Given the description of an element on the screen output the (x, y) to click on. 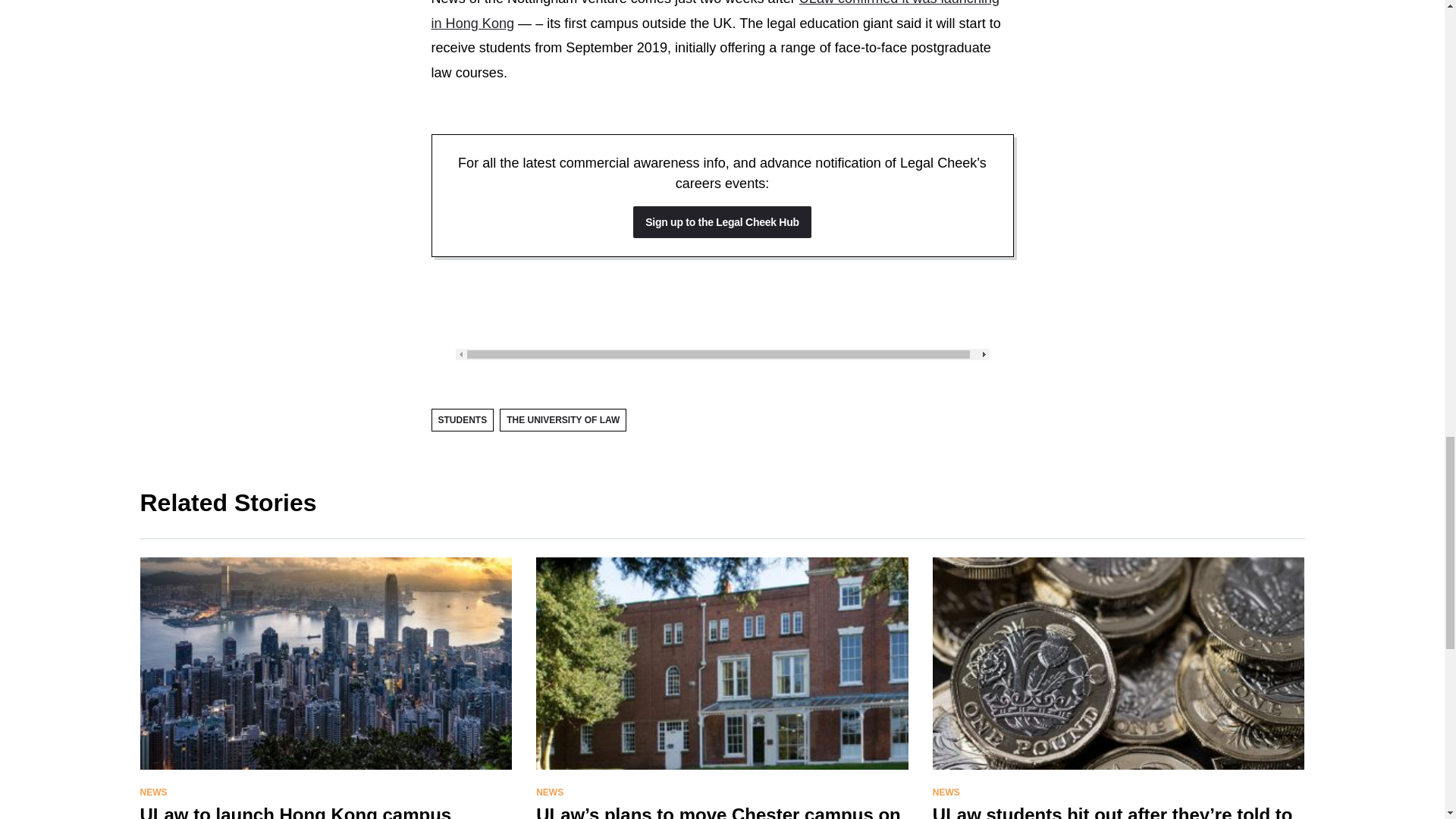
Sign up to the Legal Cheek Hub (721, 222)
THE UNIVERSITY OF LAW (562, 419)
ULaw confirmed it was launching in Hong Kong (714, 15)
STUDENTS (461, 419)
advertisement (721, 309)
